Given the description of an element on the screen output the (x, y) to click on. 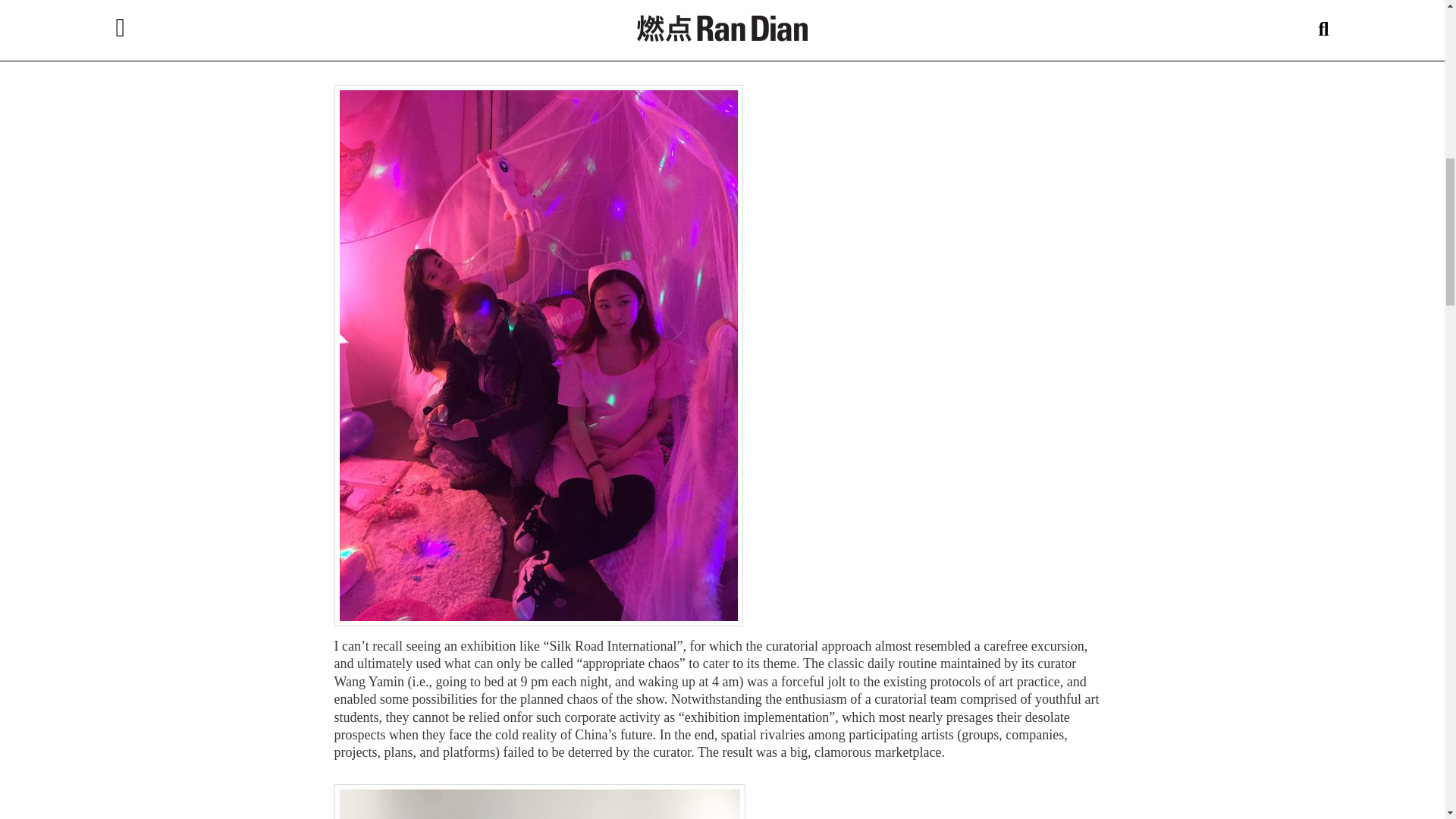
Nanjing Arts Institute Art Museum (435, 1)
